Given the description of an element on the screen output the (x, y) to click on. 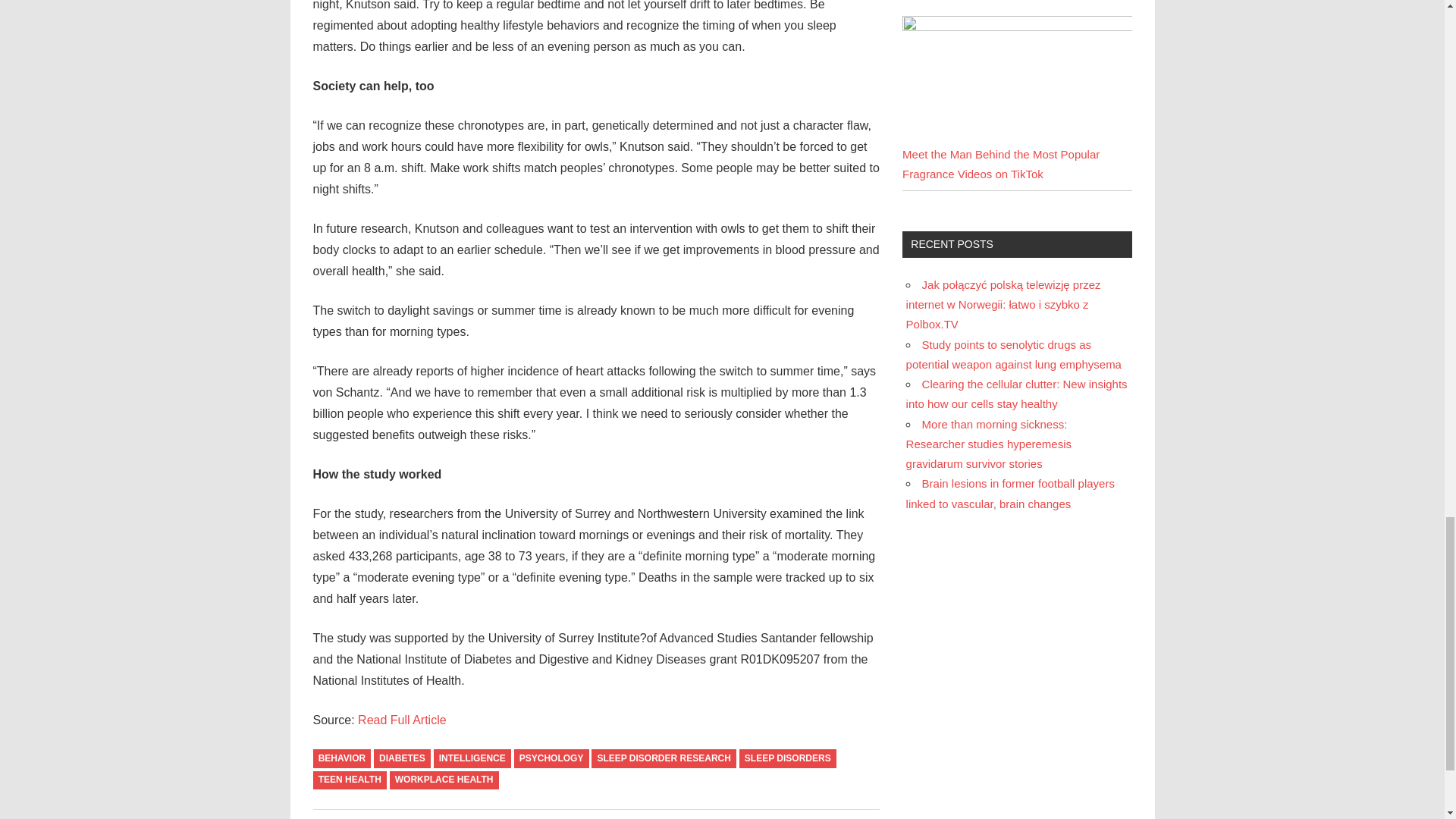
BEHAVIOR (342, 758)
WORKPLACE HEALTH (444, 780)
PSYCHOLOGY (551, 758)
INTELLIGENCE (472, 758)
